Given the description of an element on the screen output the (x, y) to click on. 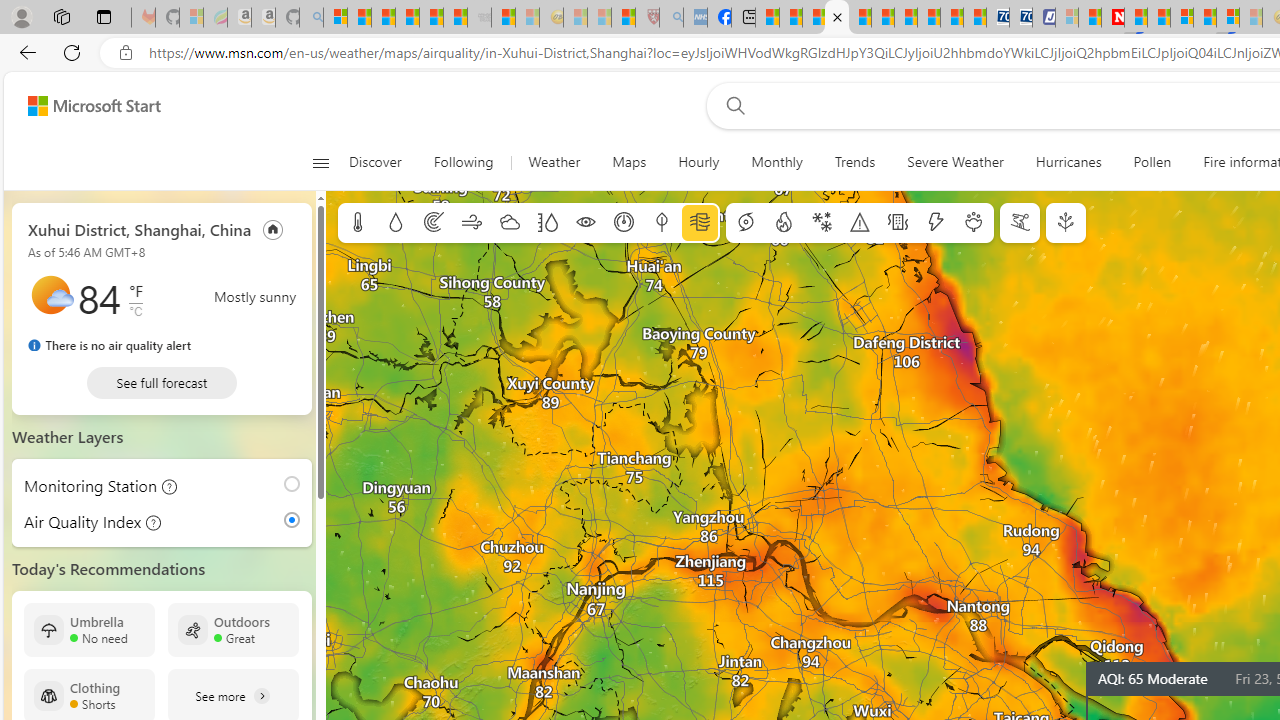
Winter weather (821, 223)
Pollen (1152, 162)
Web search (731, 105)
Recipes - MSN - Sleeping (575, 17)
Set as primary location (273, 228)
Trusted Community Engagement and Contributions | Guidelines (1135, 17)
Severe Weather (955, 162)
Discover (375, 162)
list of asthma inhalers uk - Search - Sleeping (671, 17)
Microsoft account | Privacy (334, 17)
Radar (433, 223)
Skip to content (86, 105)
Maps (629, 162)
